Given the description of an element on the screen output the (x, y) to click on. 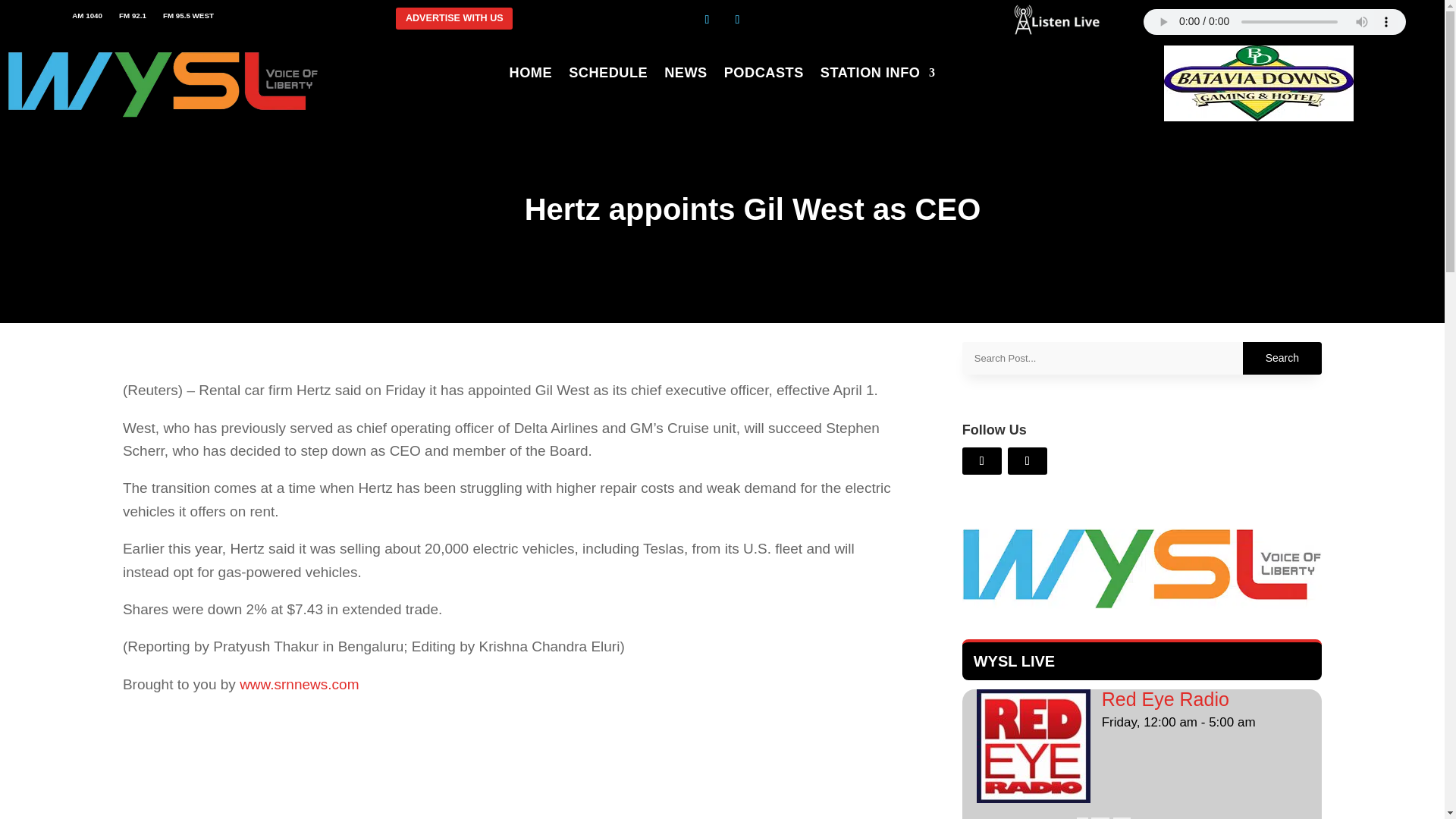
Follow on Facebook (737, 19)
Follow on Twitter (706, 19)
BATAVIA DOWNS LOGO (1258, 117)
Follow on Facebook (981, 461)
WYSL bkg rmvd (162, 118)
FM 95.5 WEST (188, 18)
PODCASTS (763, 75)
STATION INFO (878, 75)
Search (1282, 358)
NEWS (685, 75)
Follow on Twitter (1026, 461)
SCHEDULE (608, 75)
Search (1282, 358)
FM 92.1 (133, 18)
ADVERTISE WITH US (454, 18)
